Given the description of an element on the screen output the (x, y) to click on. 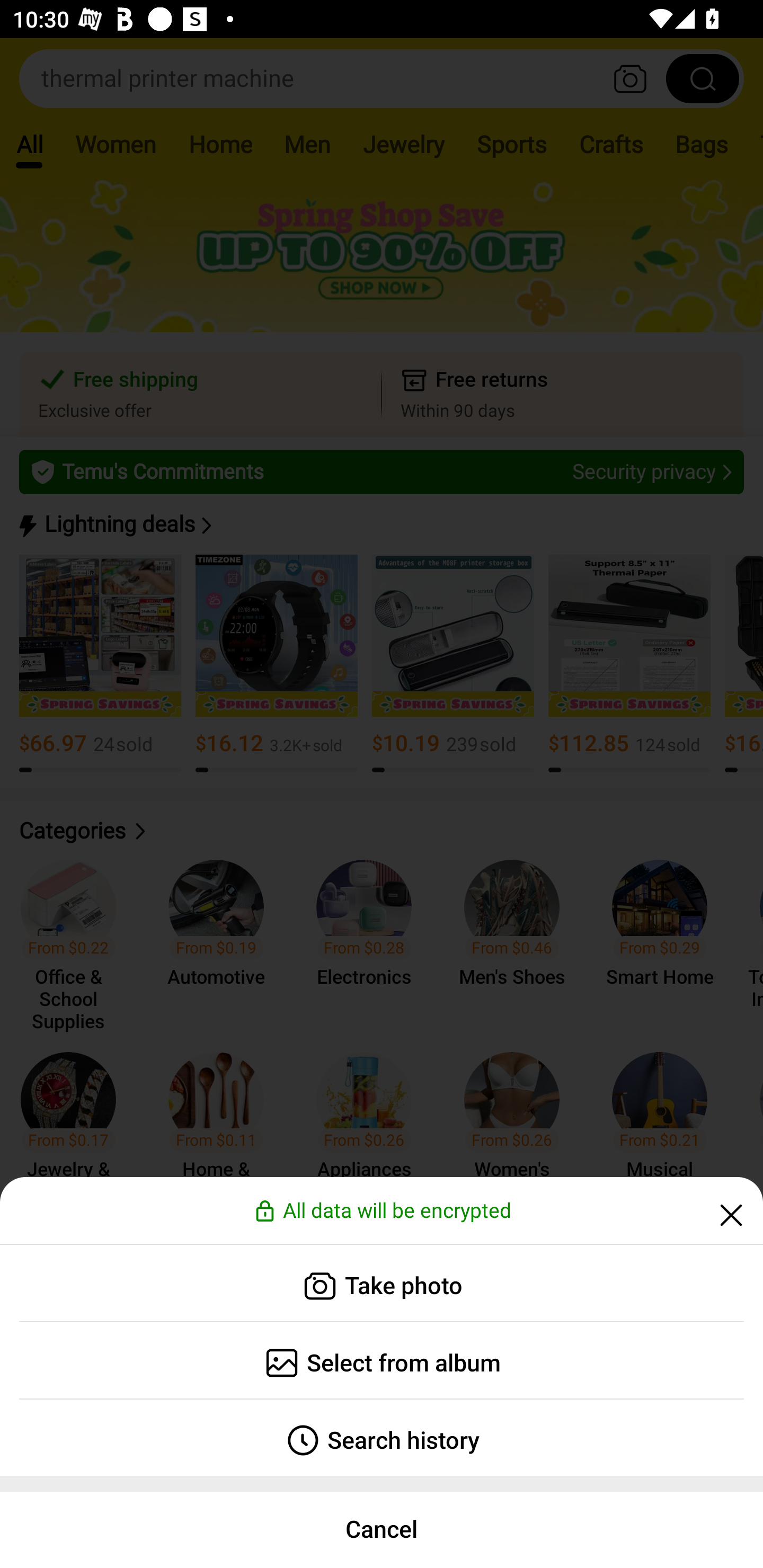
  Take photo (381, 1282)
  Select from album (381, 1359)
  Search history (381, 1437)
Cancel (381, 1529)
